Given the description of an element on the screen output the (x, y) to click on. 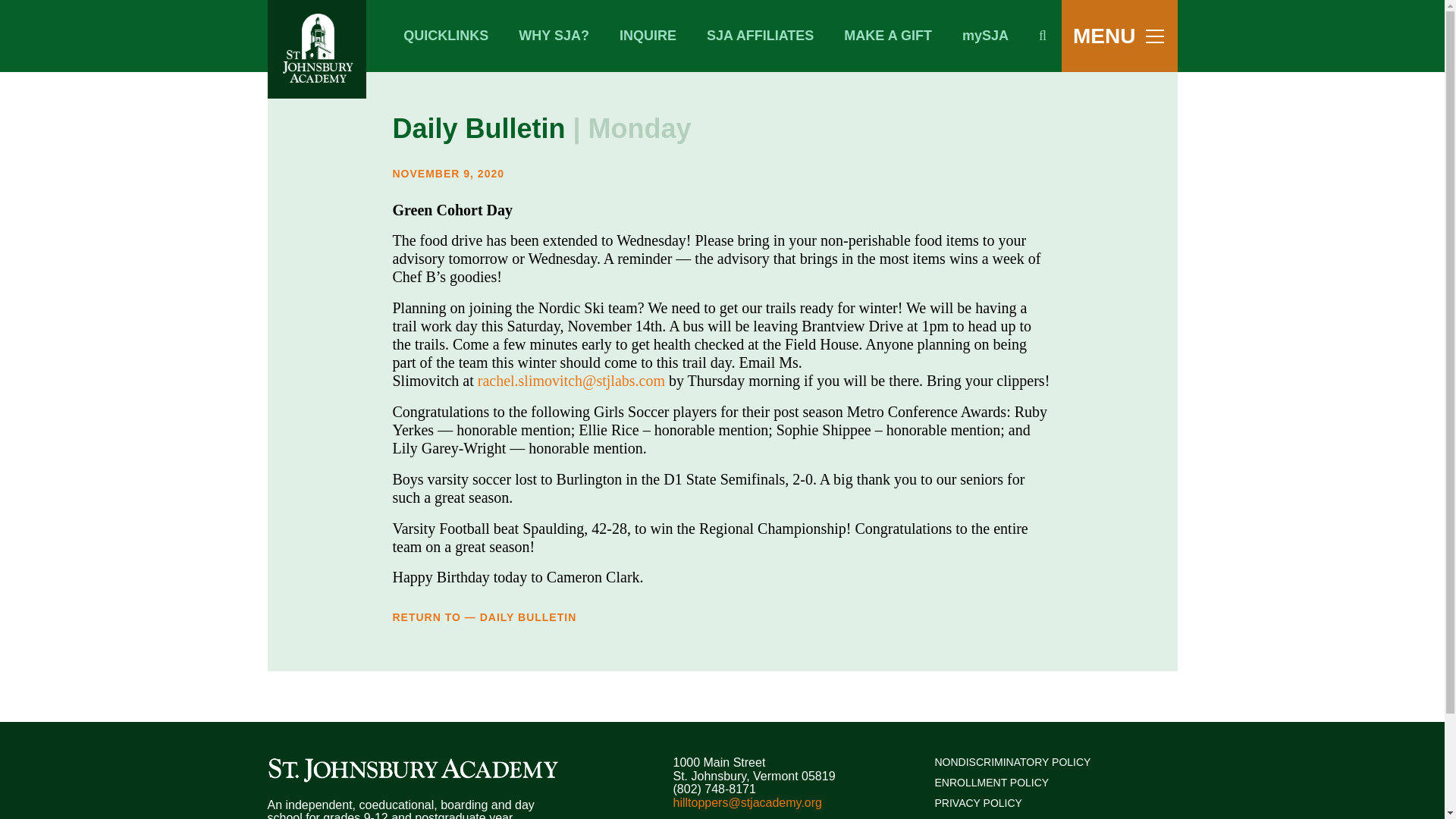
QUICKLINKS (445, 35)
MAKE A GIFT (887, 35)
SJA AFFILIATES (759, 35)
WHY SJA? (553, 35)
St. Johnsbury Academy (414, 770)
INQUIRE (647, 35)
mySJA (985, 35)
